Given the description of an element on the screen output the (x, y) to click on. 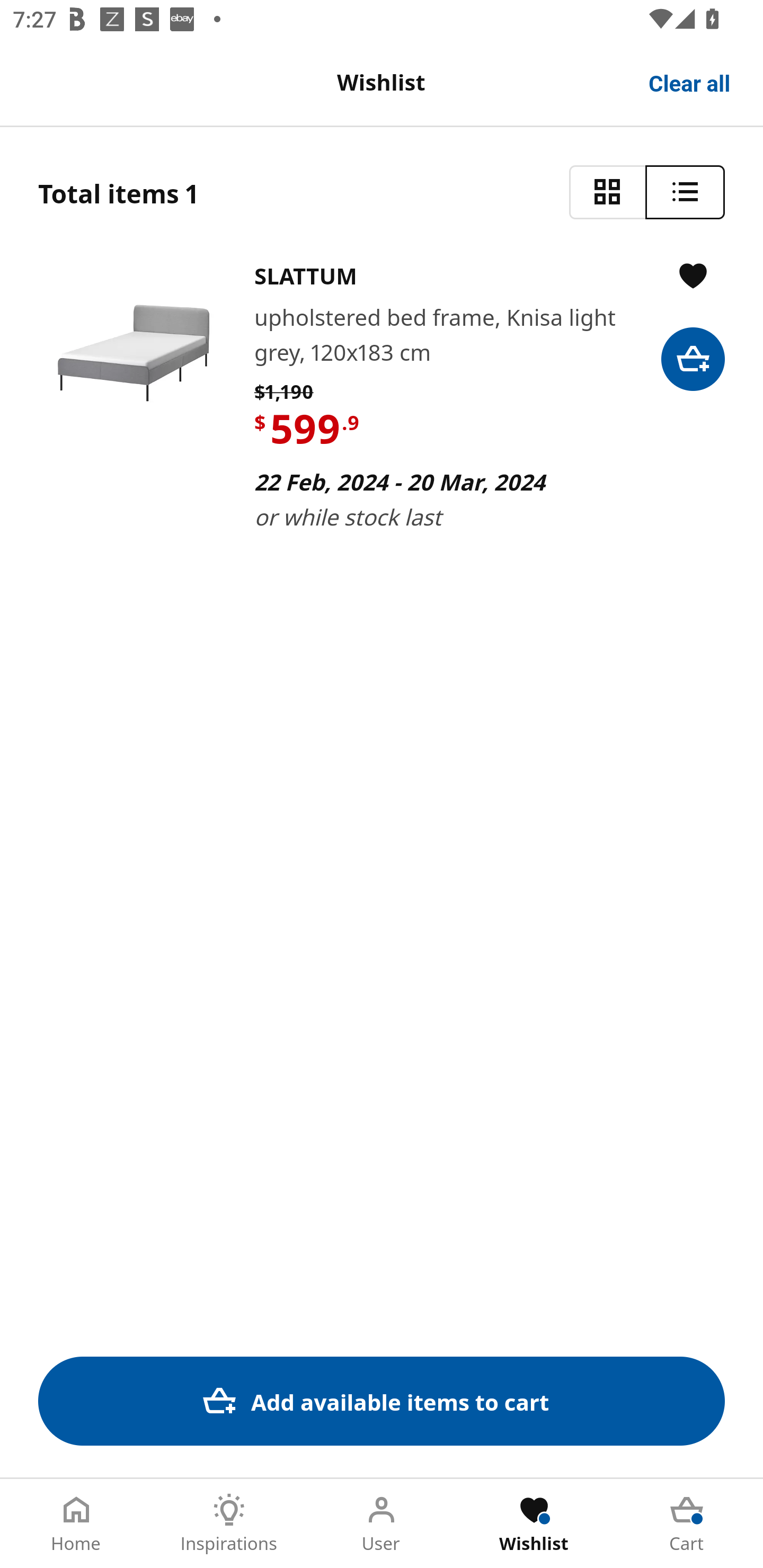
Clear all (689, 81)
Add available items to cart (381, 1400)
Home
Tab 1 of 5 (76, 1522)
Inspirations
Tab 2 of 5 (228, 1522)
User
Tab 3 of 5 (381, 1522)
Wishlist
Tab 4 of 5 (533, 1522)
Cart
Tab 5 of 5 (686, 1522)
